Given the description of an element on the screen output the (x, y) to click on. 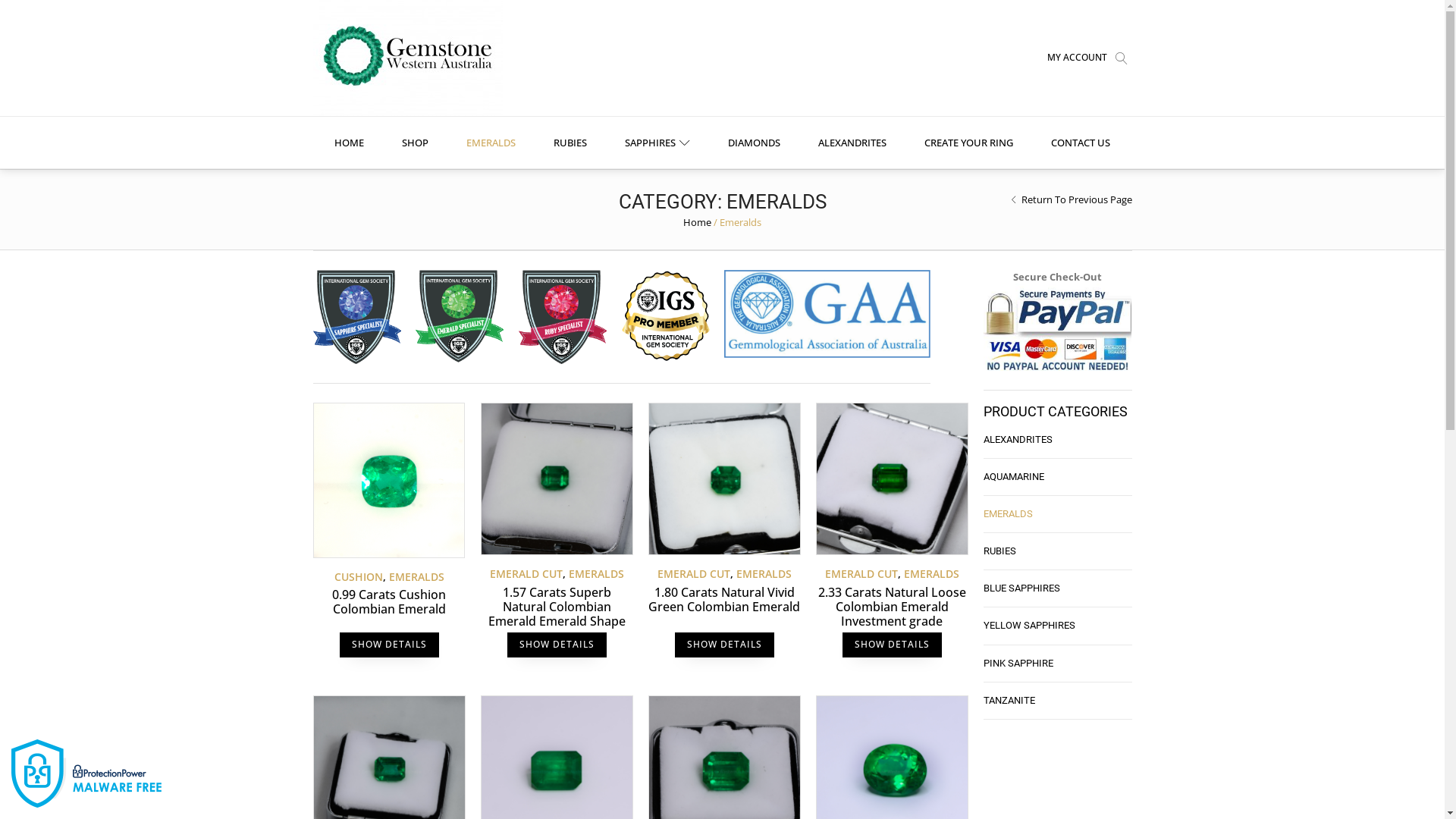
2.33 Carats Natural Loose Colombian Emerald Investment grade Element type: text (891, 607)
0.99 Carats Cushion Colombian Emerald Element type: text (388, 601)
EMERALD CUT Element type: text (861, 573)
CONTACT US Element type: text (1080, 142)
1.57 Carats Superb Natural Colombian Emerald Emerald Shape Element type: text (556, 607)
PINK SAPPHIRE Element type: text (1056, 663)
CUSHION Element type: text (357, 576)
EMERALD CUT Element type: text (525, 573)
DIAMONDS Element type: text (754, 142)
EMERALDS Element type: text (762, 573)
SHOW DETAILS Element type: text (724, 644)
AQUAMARINE Element type: text (1056, 476)
Home Element type: text (697, 222)
Search Element type: text (25, 9)
SHOW DETAILS Element type: text (891, 644)
CREATE YOUR RING Element type: text (968, 142)
EMERALD CUT Element type: text (692, 573)
RUBIES Element type: text (1056, 551)
BLUE SAPPHIRES Element type: text (1056, 588)
EMERALDS Element type: text (490, 142)
EMERALDS Element type: text (931, 573)
ALEXANDRITES Element type: text (1056, 439)
HOME Element type: text (349, 142)
SHOW DETAILS Element type: text (389, 644)
YELLOW SAPPHIRES Element type: text (1056, 625)
1.80 Carats Natural Vivid Green Colombian Emerald Element type: text (723, 599)
EMERALDS Element type: text (415, 576)
SHOP Element type: text (414, 142)
SAPPHIRES Element type: text (657, 142)
Return To Previous Page Element type: text (1075, 199)
EMERALDS Element type: text (1056, 514)
EMERALDS Element type: text (596, 573)
ALEXANDRITES Element type: text (852, 142)
MY ACCOUNT Element type: text (1076, 57)
SHOW DETAILS Element type: text (555, 644)
RUBIES Element type: text (569, 142)
TANZANITE Element type: text (1056, 700)
